Given the description of an element on the screen output the (x, y) to click on. 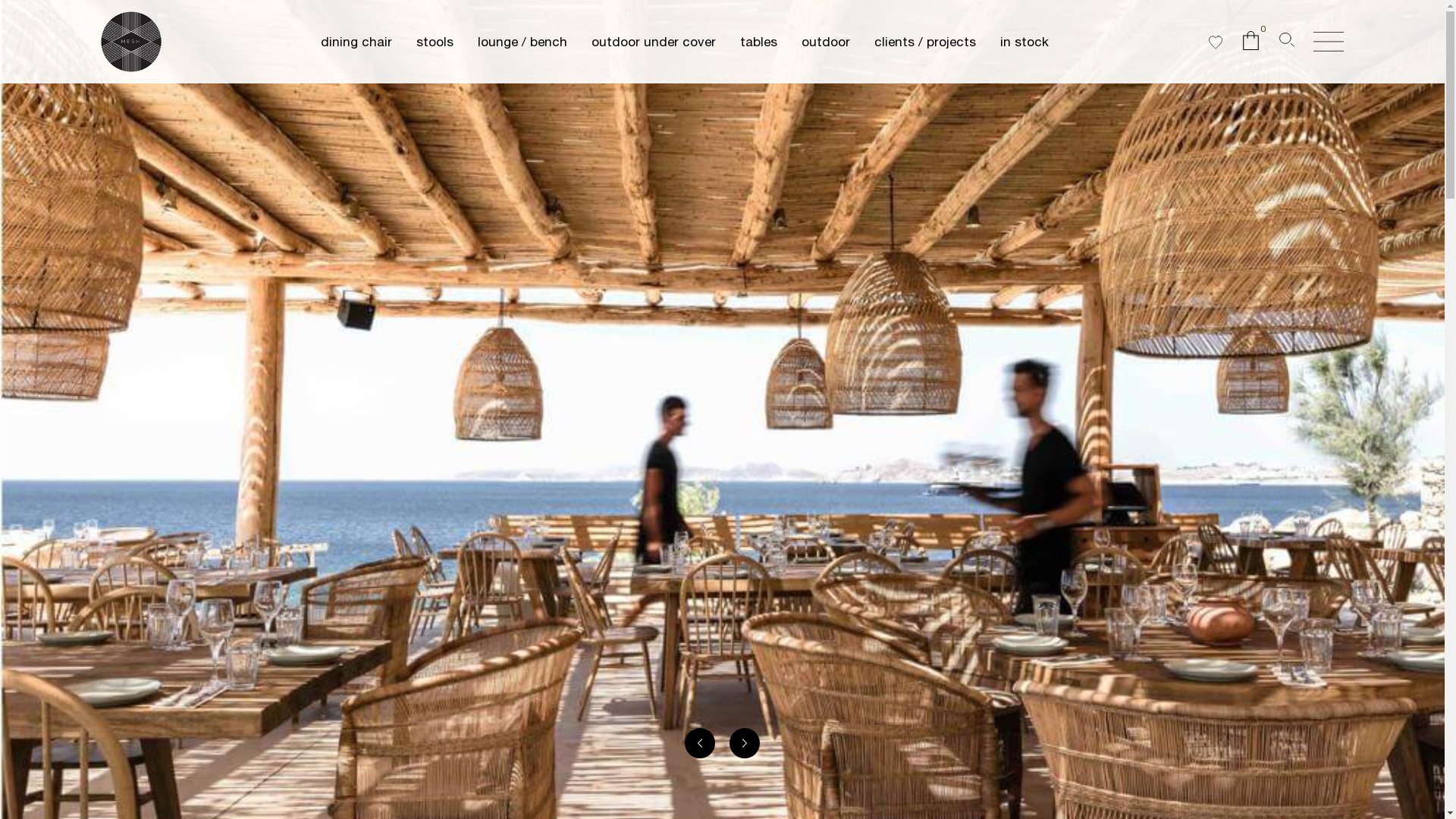
lounge / bench Element type: text (522, 41)
tables Element type: text (758, 41)
outdoor under cover Element type: text (653, 41)
outdoor Element type: text (825, 41)
stools Element type: text (434, 41)
dining chair Element type: text (356, 41)
0 Element type: text (1250, 45)
clients / projects Element type: text (925, 41)
in stock Element type: text (1024, 41)
